Given the description of an element on the screen output the (x, y) to click on. 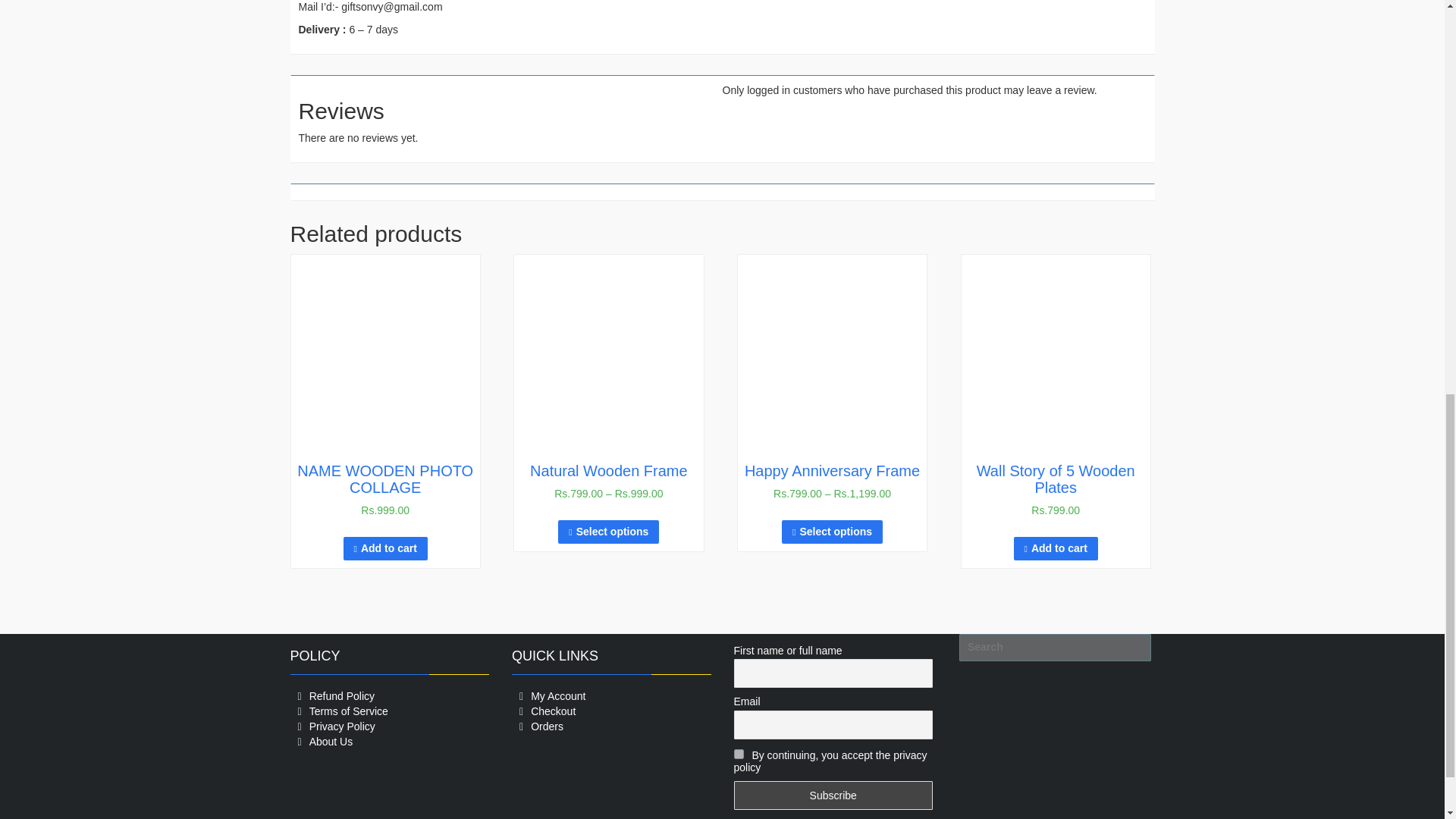
Subscribe (833, 795)
Search for: (1055, 646)
on (738, 754)
